Given the description of an element on the screen output the (x, y) to click on. 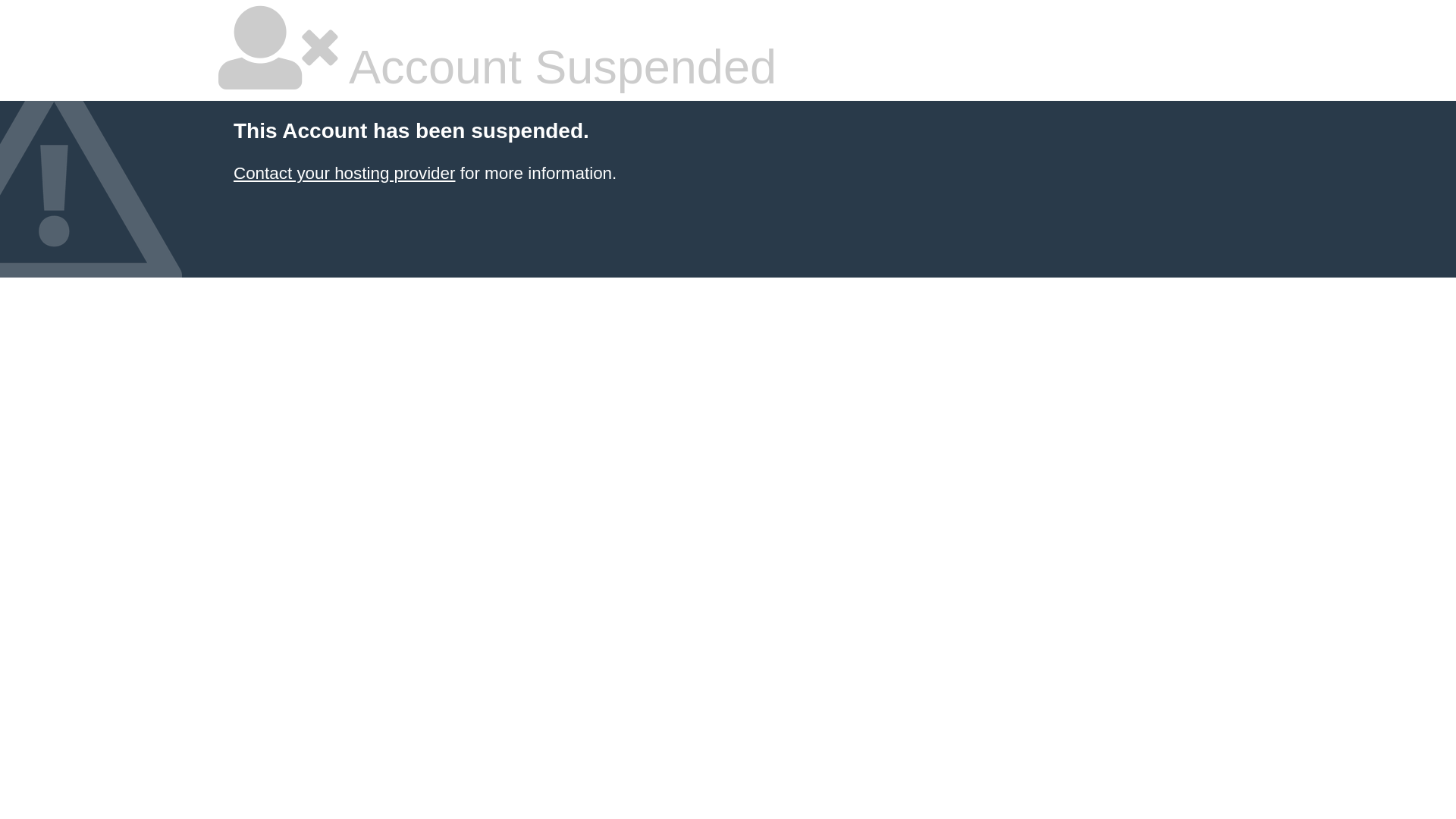
Contact your hosting provider Element type: text (344, 172)
